Given the description of an element on the screen output the (x, y) to click on. 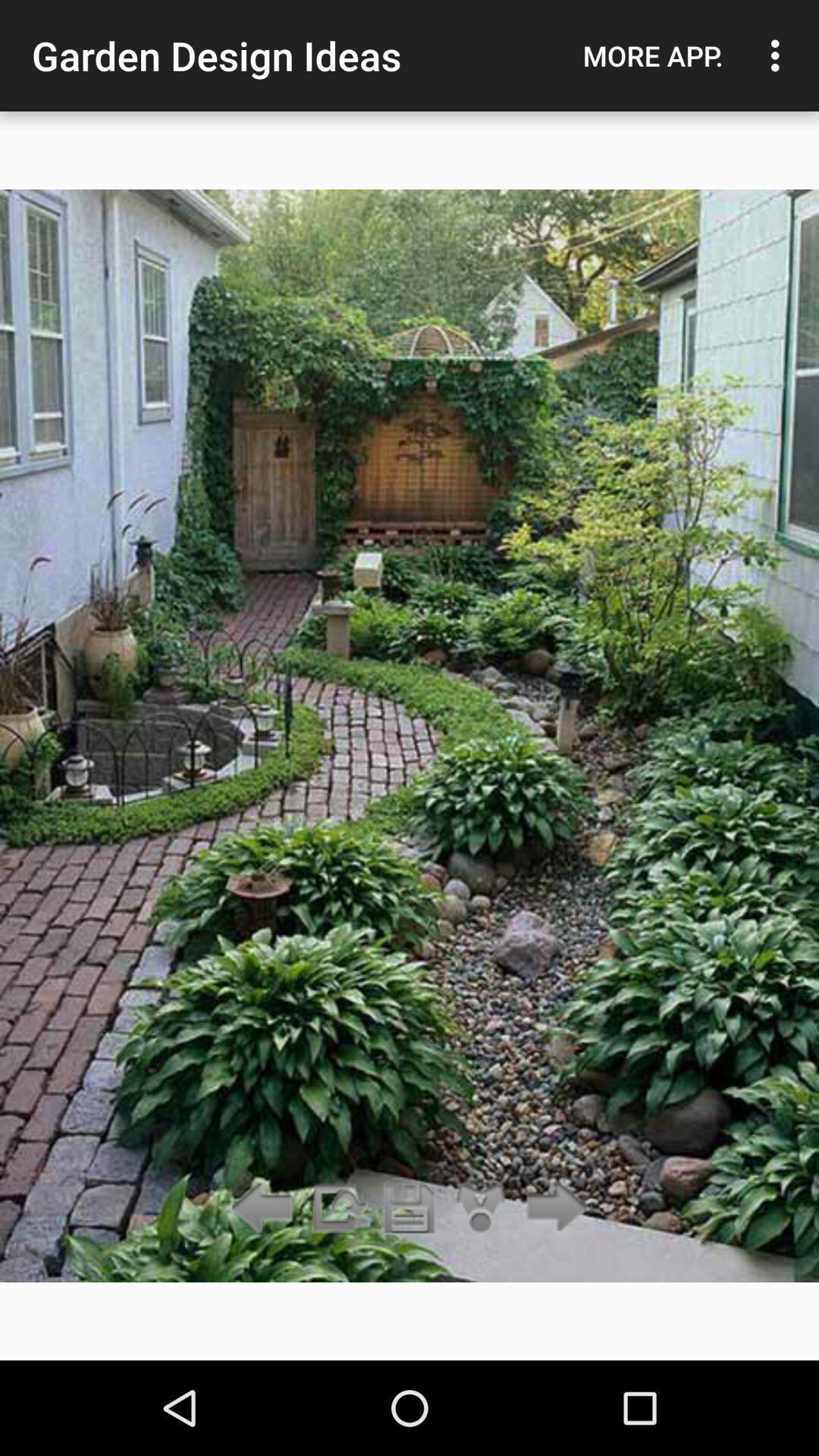
launch item next to the more app. (779, 55)
